Given the description of an element on the screen output the (x, y) to click on. 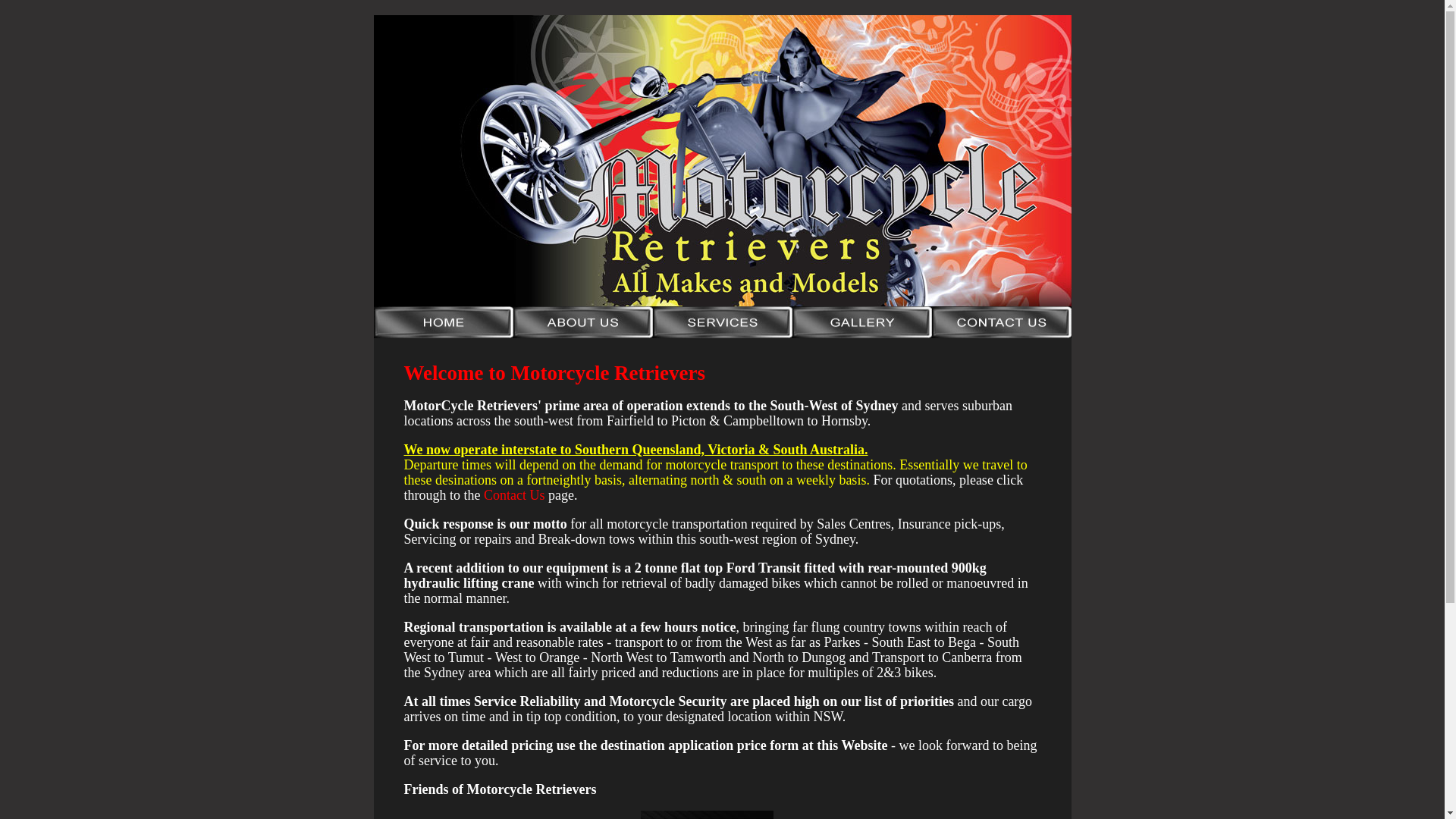
Contact Us Element type: text (514, 494)
